Given the description of an element on the screen output the (x, y) to click on. 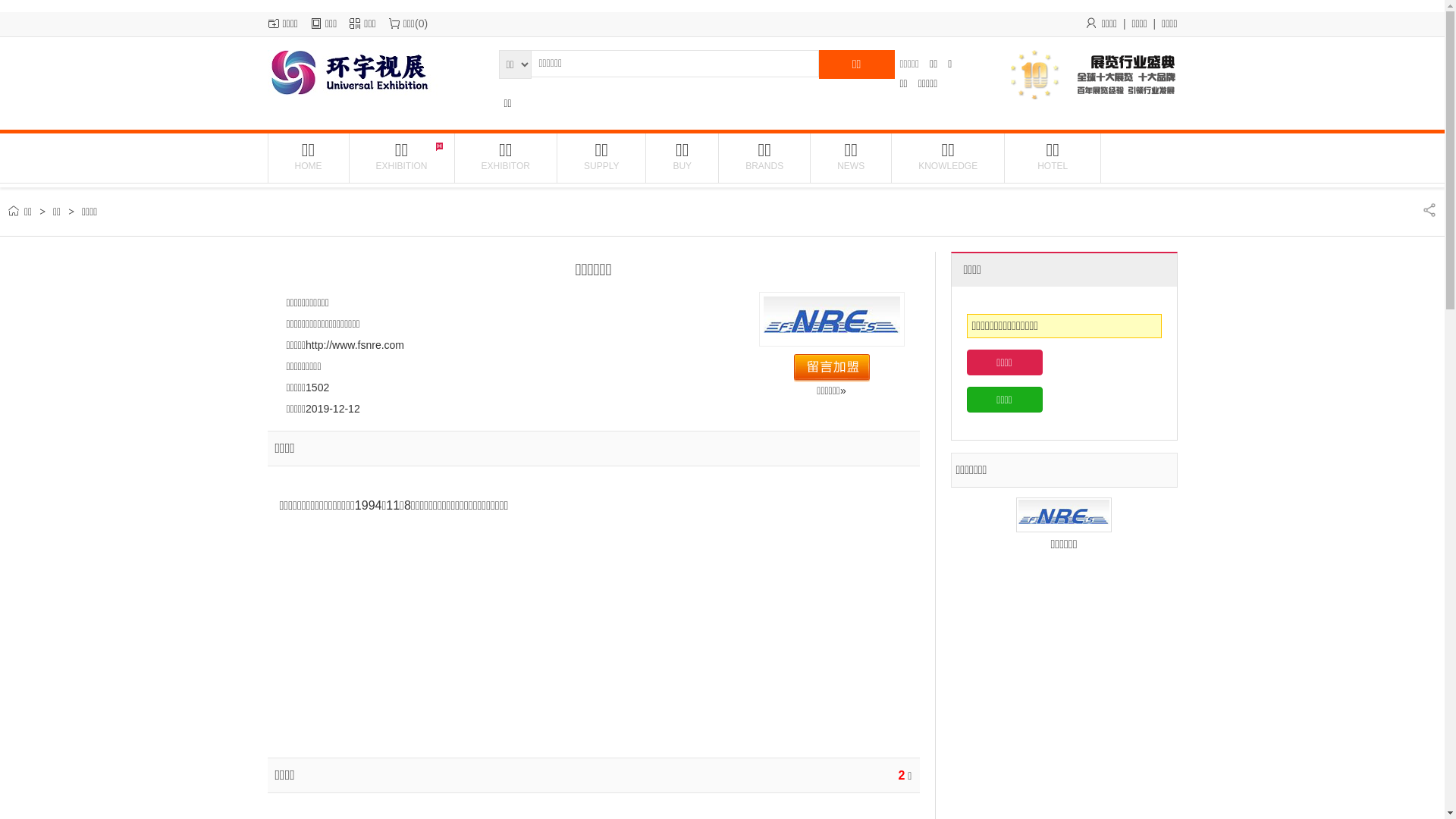
http://www.fsnre.com Element type: text (354, 344)
